Given the description of an element on the screen output the (x, y) to click on. 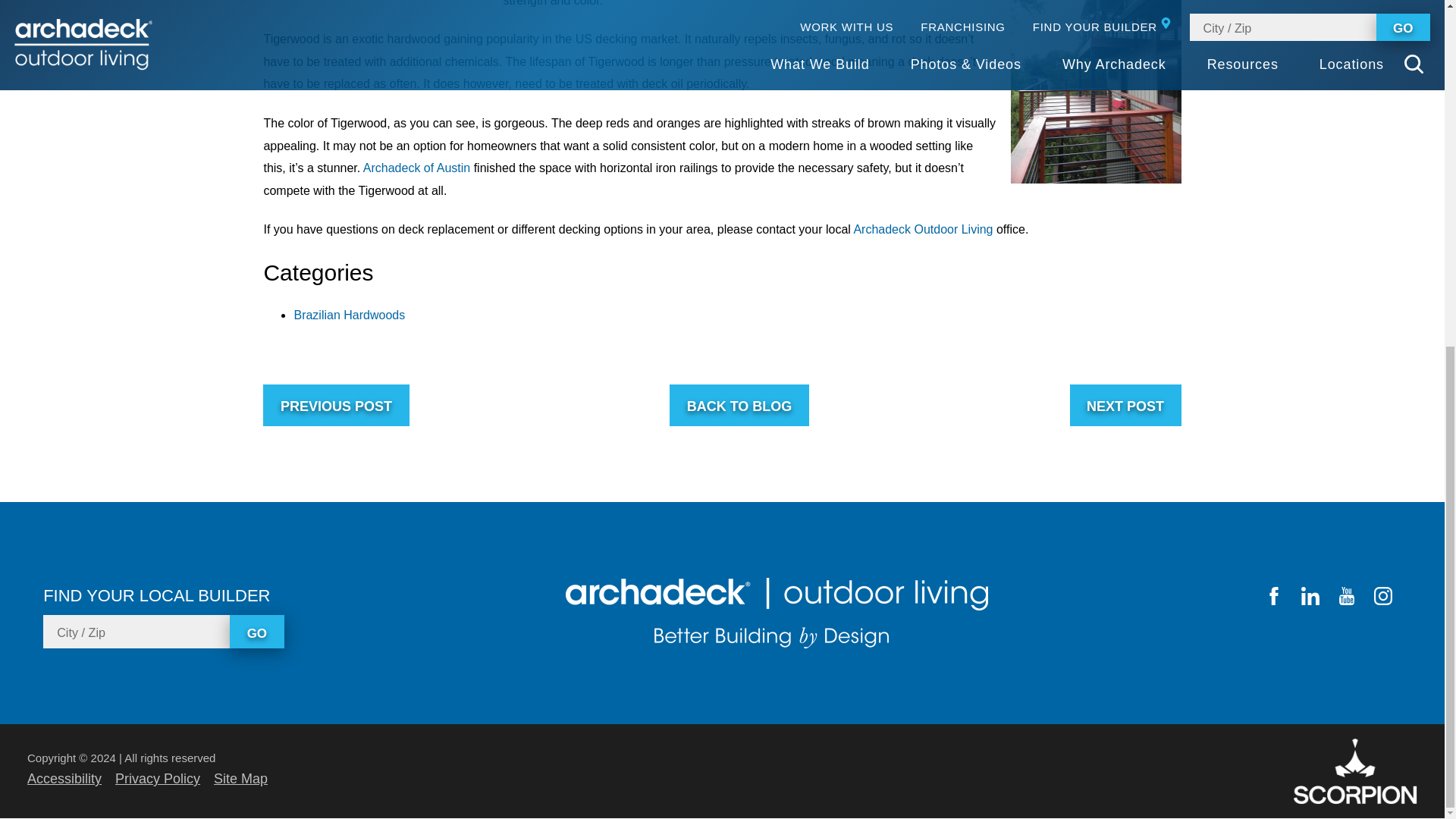
LinkedIn (1309, 596)
Facebook (1273, 596)
Instagram (1382, 596)
YouTube (1346, 596)
